Given the description of an element on the screen output the (x, y) to click on. 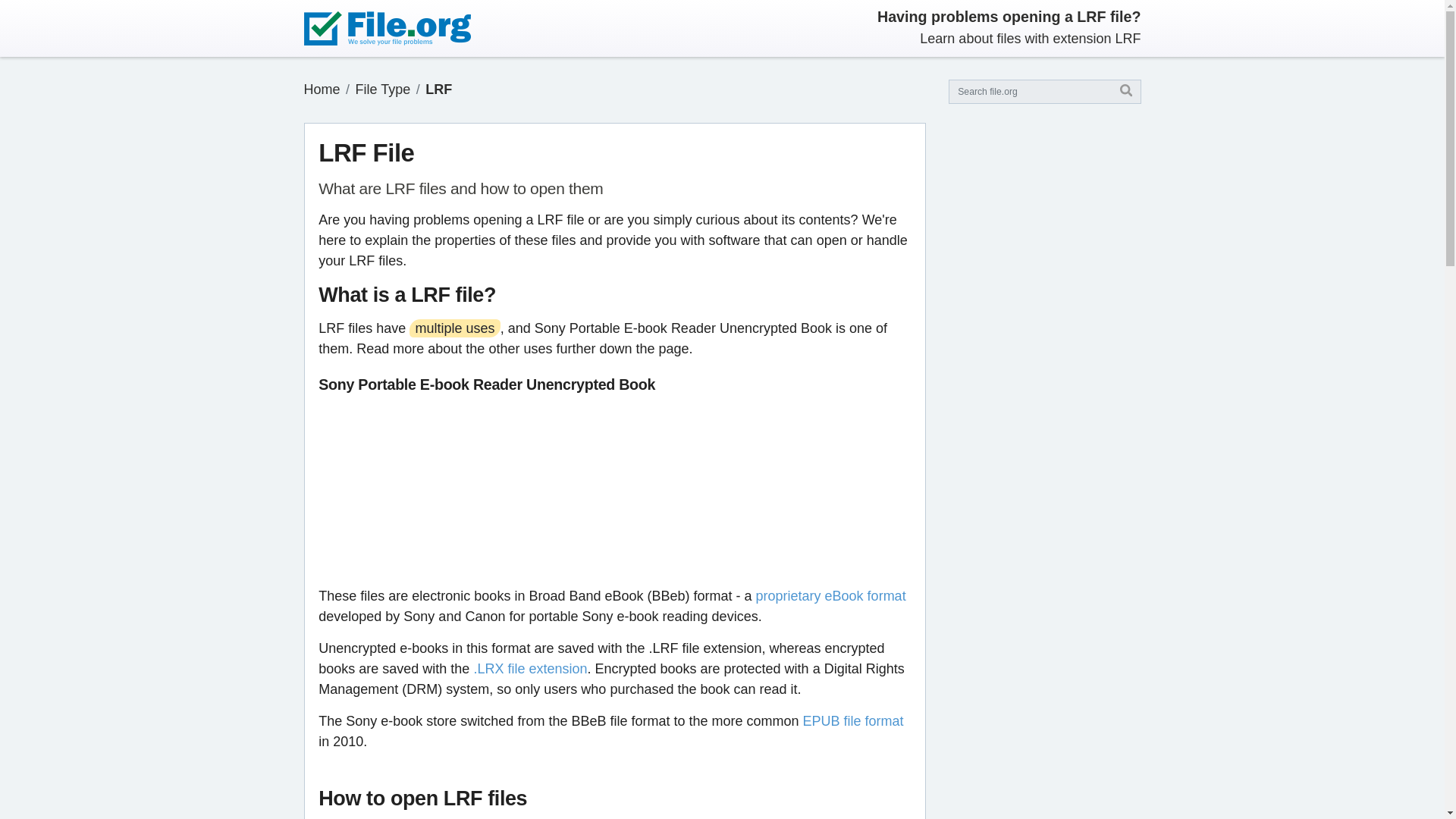
File Type (382, 89)
Home (320, 89)
.LRX file extension (529, 668)
proprietary eBook format (830, 595)
LRF (438, 89)
File Type (382, 89)
File.org (320, 89)
Advertisement (615, 489)
LRF (438, 89)
EPUB file format (853, 720)
